Given the description of an element on the screen output the (x, y) to click on. 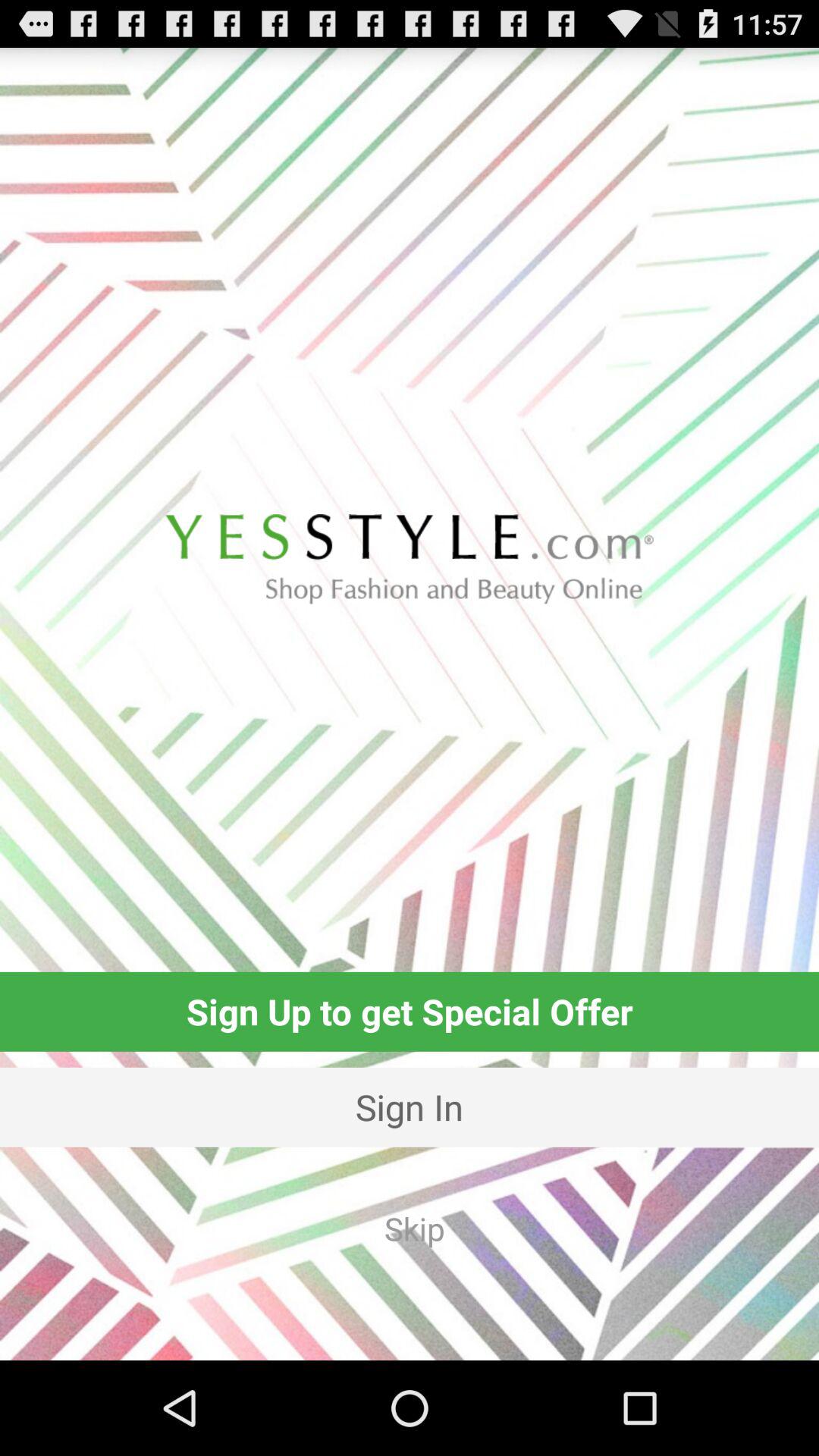
click app above the sign in item (409, 1011)
